Given the description of an element on the screen output the (x, y) to click on. 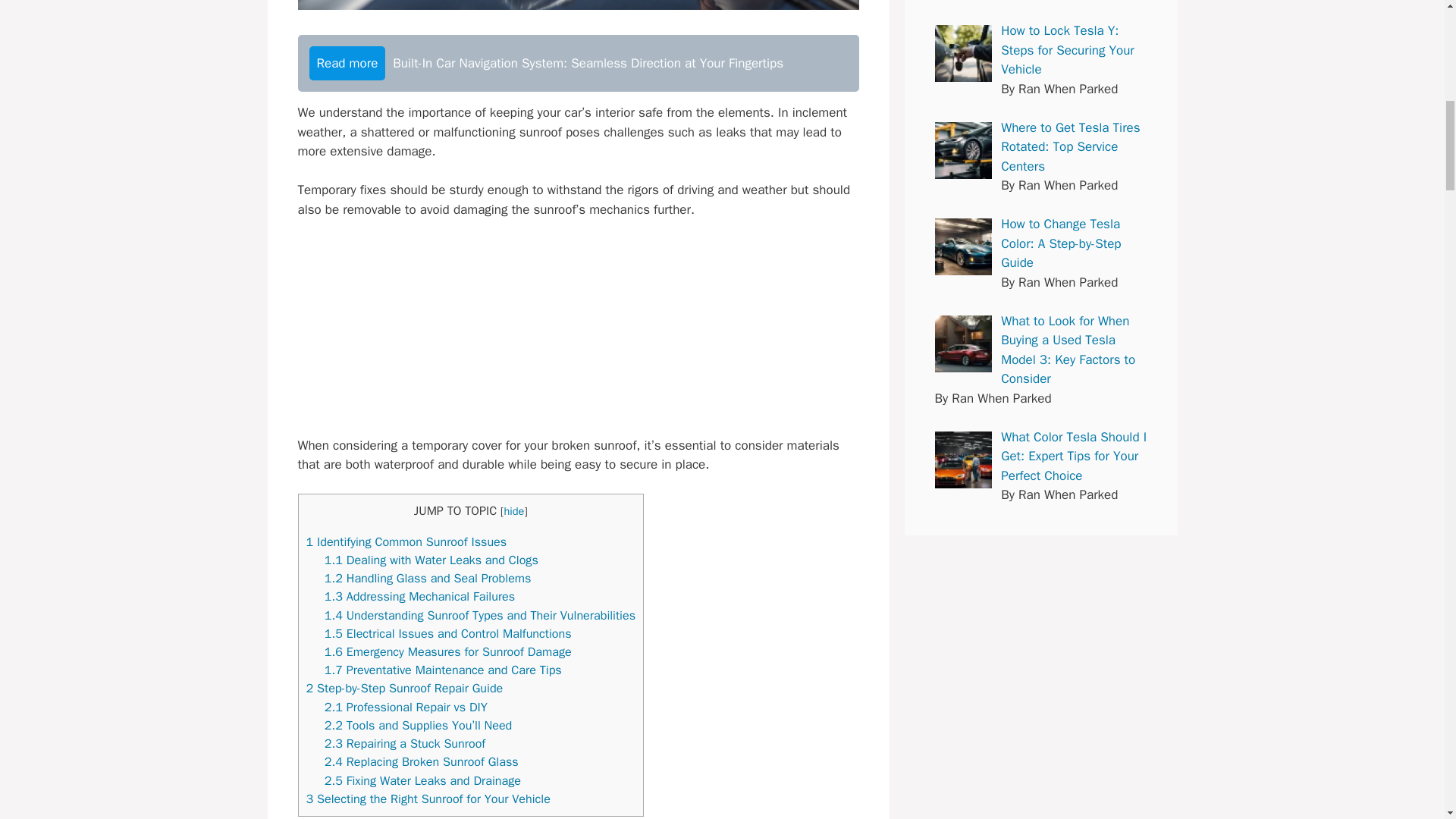
1.2 Handling Glass and Seal Problems (427, 578)
How to Change Tesla Color: A Step-by-Step Guide (962, 246)
hide (513, 510)
1.6 Emergency Measures for Sunroof Damage (448, 651)
2 Step-by-Step Sunroof Repair Guide (404, 688)
1 Identifying Common Sunroof Issues (405, 541)
1.5 Electrical Issues and Control Malfunctions (448, 633)
How to Lock Tesla Y: Steps for Securing Your Vehicle (962, 53)
Where to Get Tesla Tires Rotated: Top Service Centers (962, 150)
How to Cover Broken Sunroof: Quick Temporary Fix Guide (578, 4)
1.1 Dealing with Water Leaks and Clogs (431, 560)
1.4 Understanding Sunroof Types and Their Vulnerabilities (479, 615)
1.3 Addressing Mechanical Failures (419, 596)
1.7 Preventative Maintenance and Care Tips (443, 669)
